Given the description of an element on the screen output the (x, y) to click on. 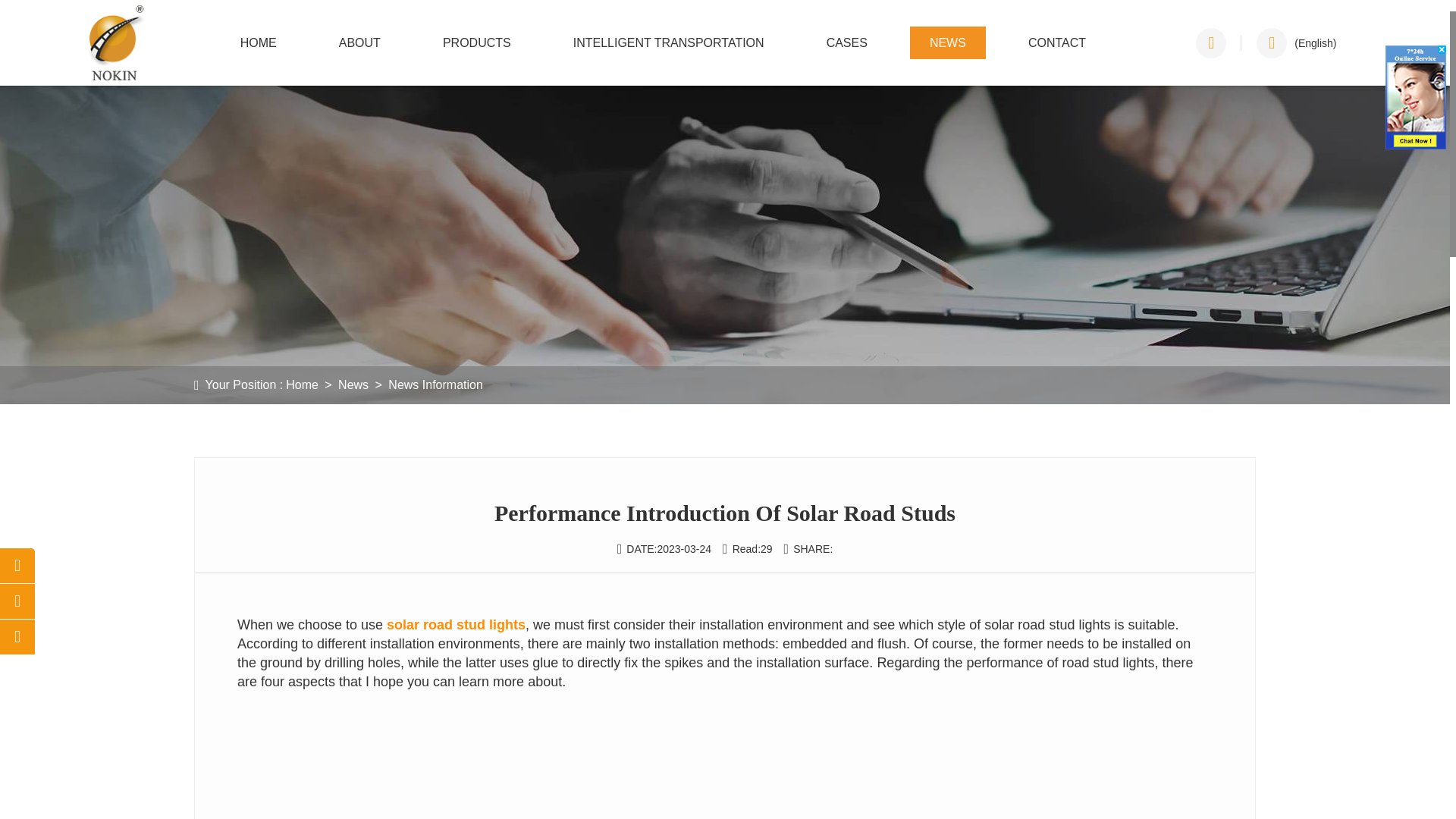
HOME (259, 42)
NEWS (947, 42)
INTELLIGENT TRANSPORTATION (668, 42)
PRODUCTS (477, 42)
ABOUT (359, 42)
CONTACT (1057, 42)
CASES (846, 42)
